Given the description of an element on the screen output the (x, y) to click on. 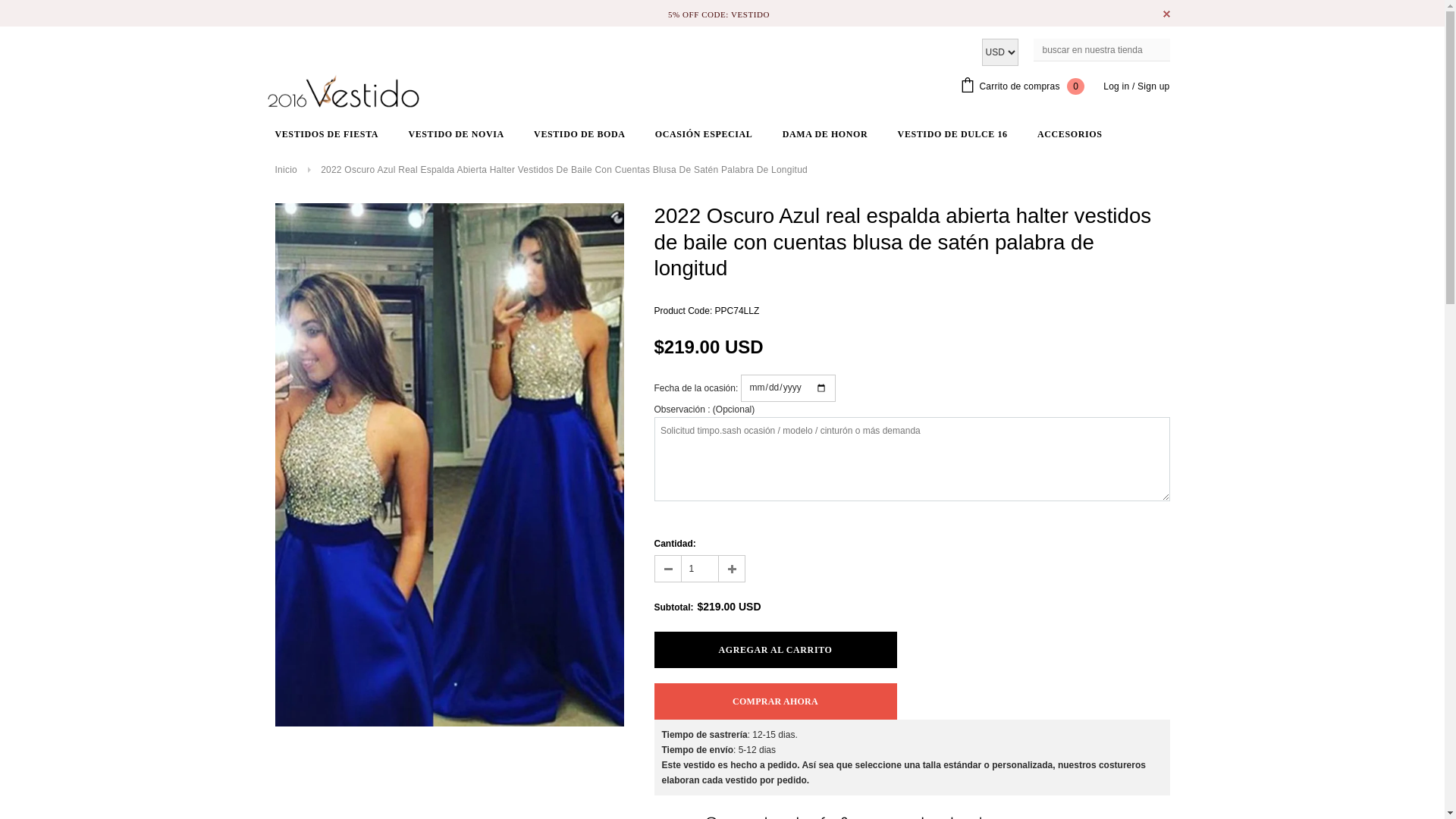
Carrito de compras 0 Element type: text (1022, 86)
Sign up Element type: text (1153, 86)
COMPRAR AHORA Element type: text (774, 701)
VESTIDO DE DULCE 16 Element type: text (952, 133)
DAMA DE HONOR Element type: text (824, 133)
CLOSE Element type: text (1166, 13)
Log in Element type: text (1116, 86)
VESTIDOS DE FIESTA Element type: text (326, 133)
Agregar al carrito Element type: text (774, 649)
VESTIDO DE NOVIA Element type: text (455, 133)
Inicio Element type: text (285, 169)
ACCESORIOS Element type: text (1069, 133)
VESTIDO DE BODA Element type: text (578, 133)
